Given the description of an element on the screen output the (x, y) to click on. 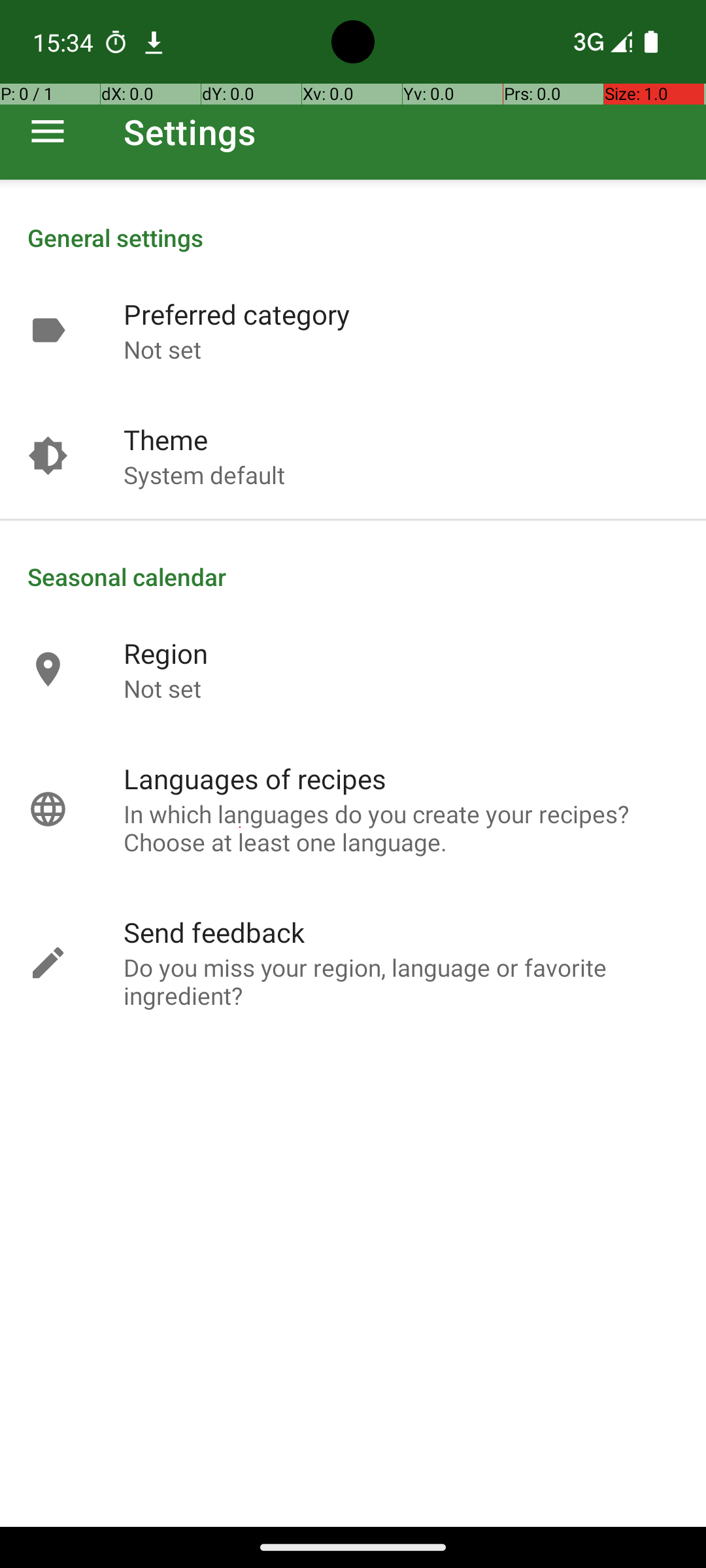
General settings Element type: android.widget.TextView (352, 237)
Preferred category Element type: android.widget.TextView (236, 313)
Not set Element type: android.widget.TextView (162, 348)
Region Element type: android.widget.TextView (165, 652)
Languages of recipes Element type: android.widget.TextView (254, 778)
In which languages do you create your recipes? Choose at least one language. Element type: android.widget.TextView (400, 827)
Do you miss your region, language or favorite ingredient? Element type: android.widget.TextView (400, 981)
